Given the description of an element on the screen output the (x, y) to click on. 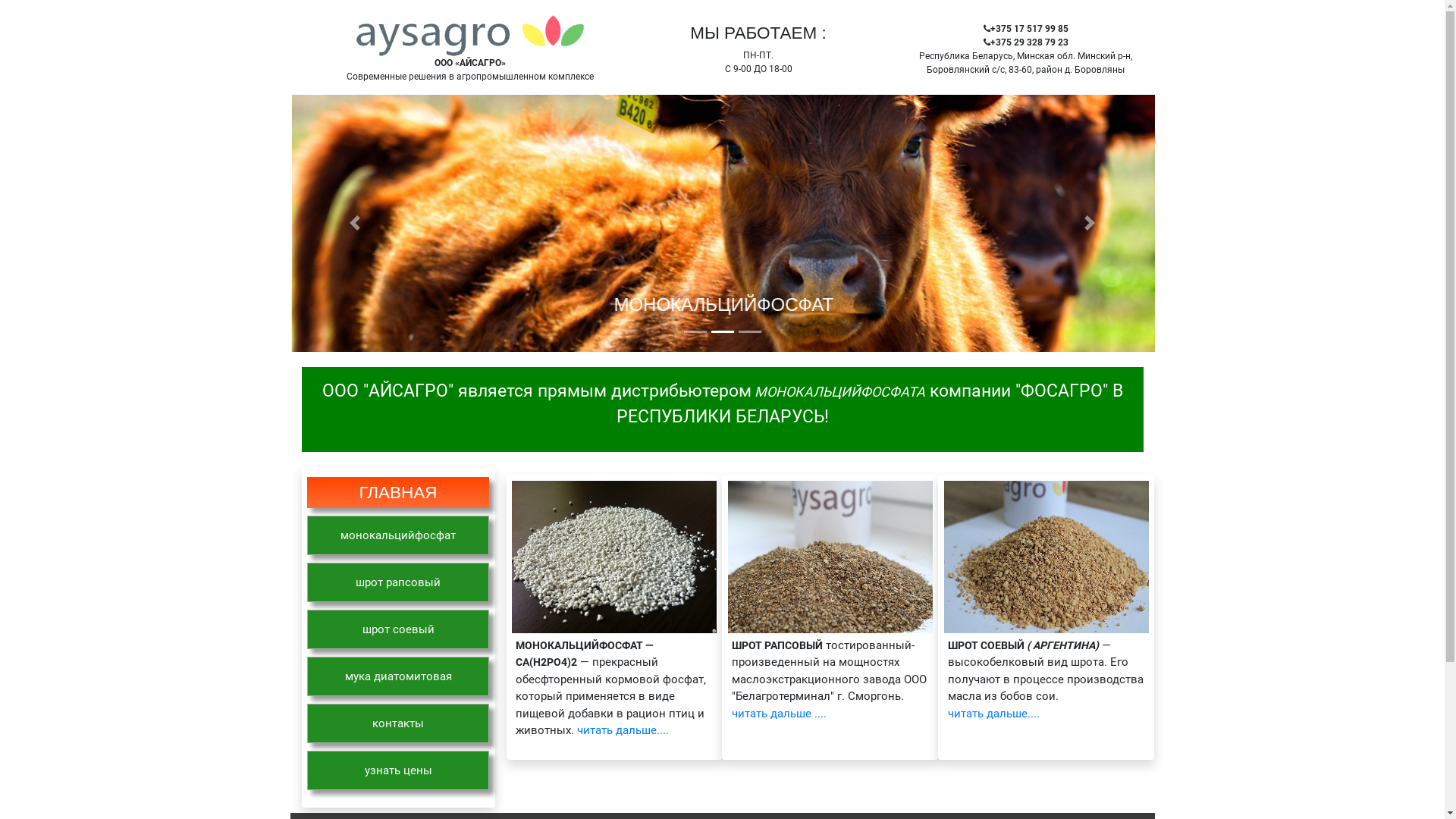
Previous Element type: text (354, 222)
Next Element type: text (1089, 222)
